Given the description of an element on the screen output the (x, y) to click on. 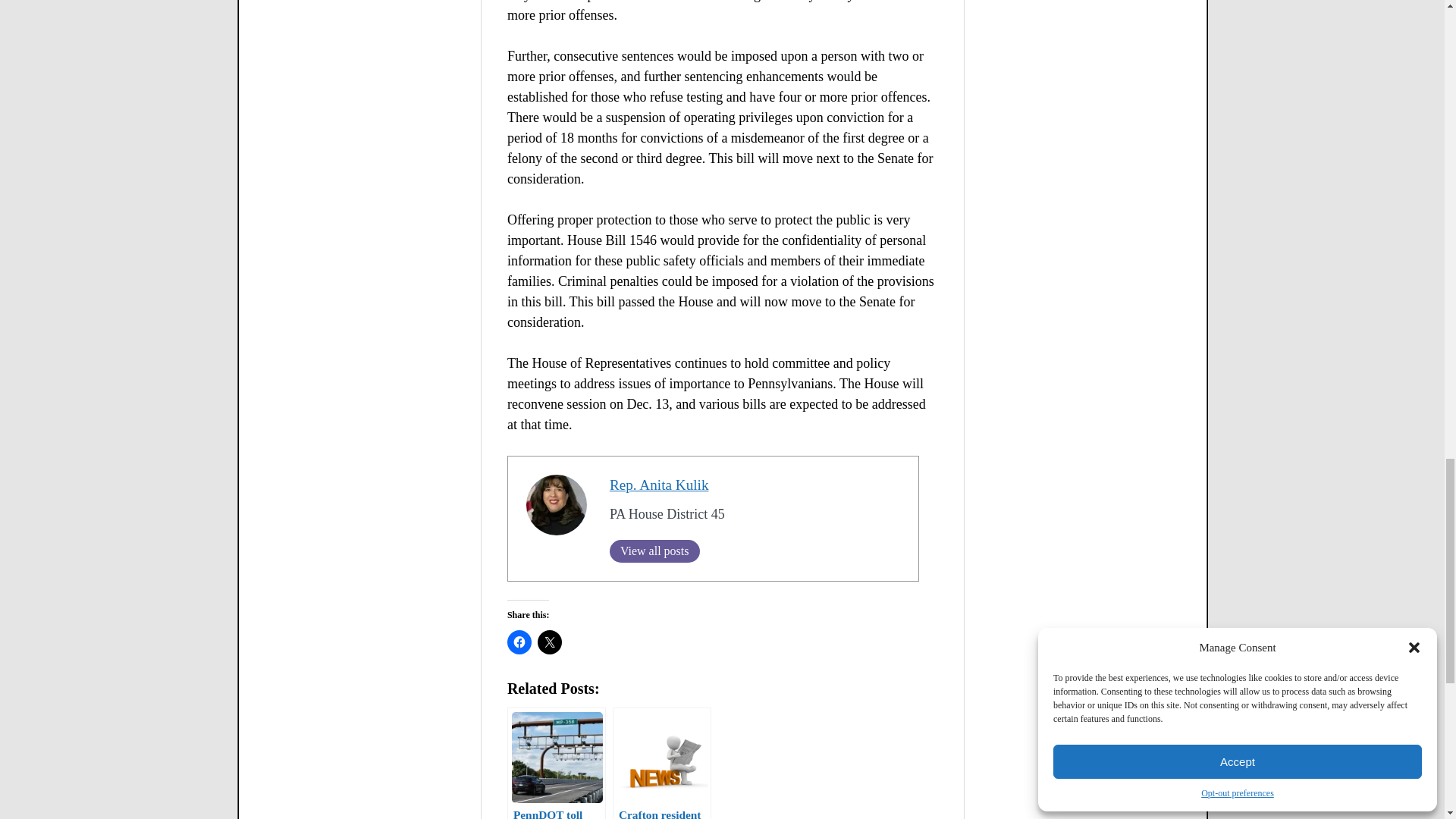
Rep. Anita Kulik (659, 484)
View all posts (655, 550)
Rep. Anita Kulik (659, 484)
View all posts (655, 550)
Click to share on Facebook (518, 641)
Click to share on X (549, 641)
